Given the description of an element on the screen output the (x, y) to click on. 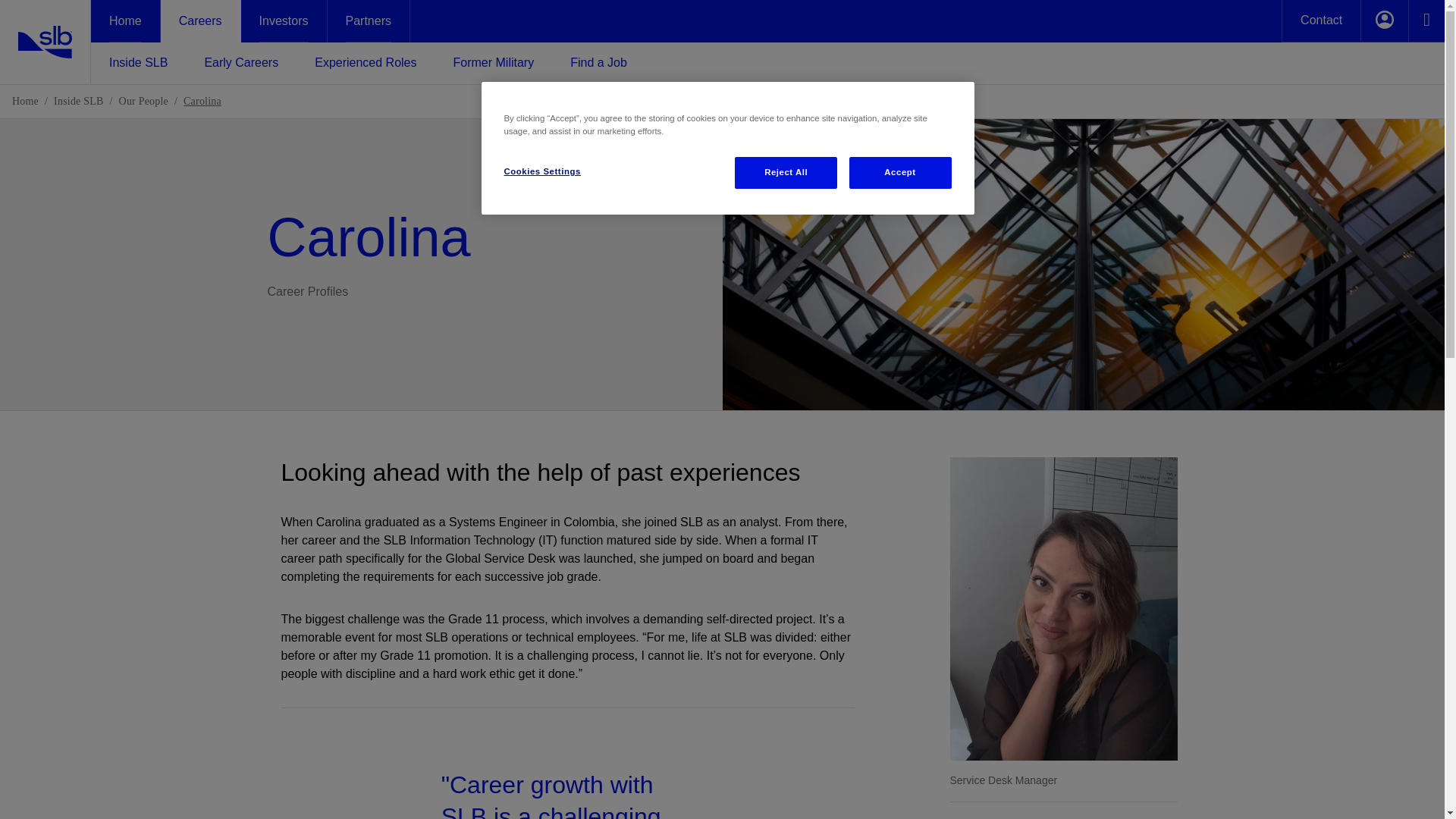
Inside SLB (138, 61)
Partners (368, 21)
Careers (200, 21)
Early Careers (240, 61)
Investors (283, 21)
Find a Job (598, 61)
Former Military (493, 61)
Contact (1320, 20)
Experienced Roles (365, 61)
Home (25, 101)
